Given the description of an element on the screen output the (x, y) to click on. 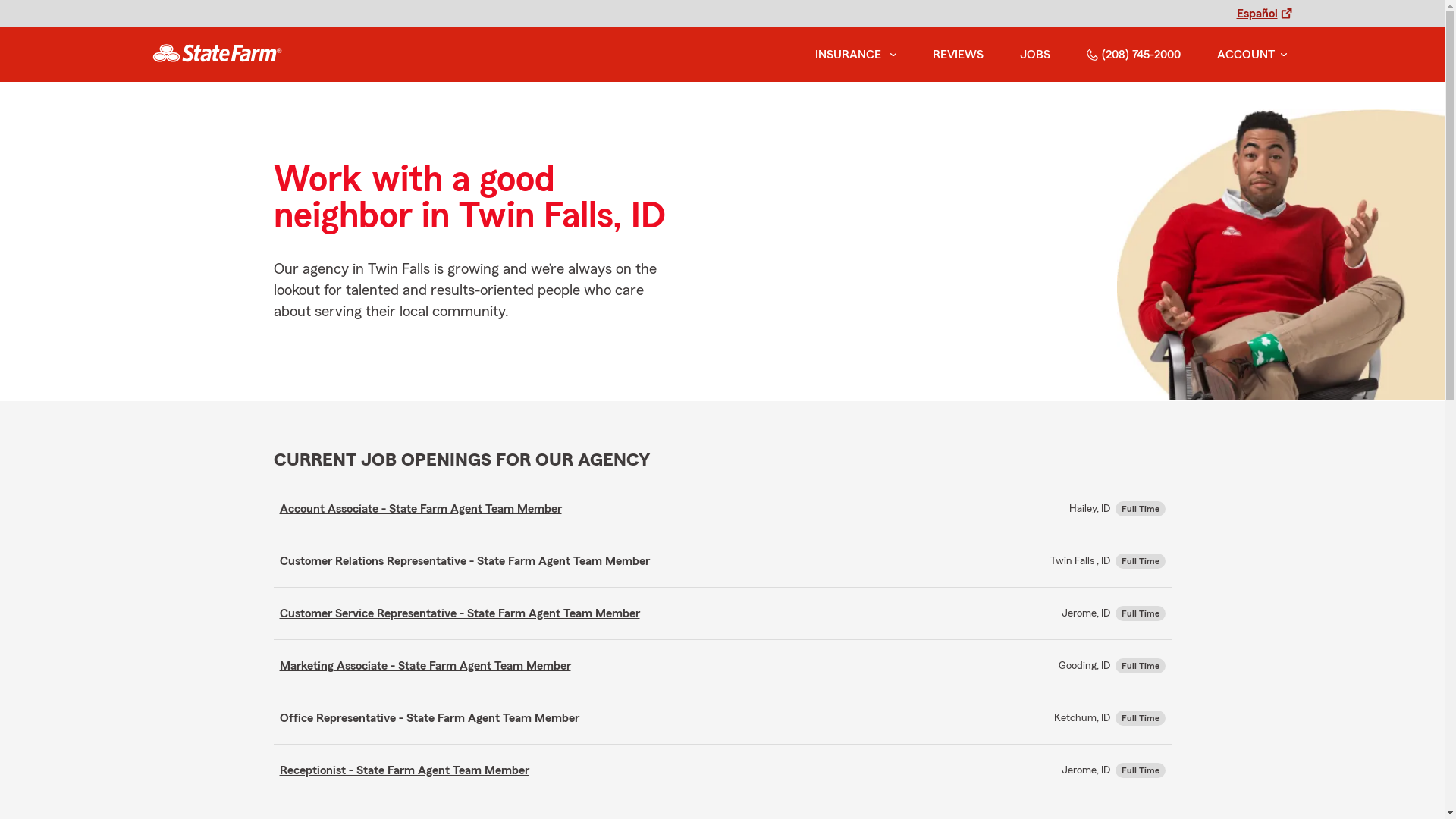
JOBS Element type: text (1034, 54)
Marketing Associate - State Farm Agent Team Member Element type: text (424, 665)
Account Associate - State Farm Agent Team Member Element type: text (420, 508)
(208) 745-2000 Element type: text (1132, 54)
ACCOUNT Element type: text (1251, 54)
INSURANCE Element type: text (845, 54)
Office Representative - State Farm Agent Team Member Element type: text (428, 718)
REVIEWS Element type: text (957, 54)
Receptionist - State Farm Agent Team Member Element type: text (403, 770)
